Given the description of an element on the screen output the (x, y) to click on. 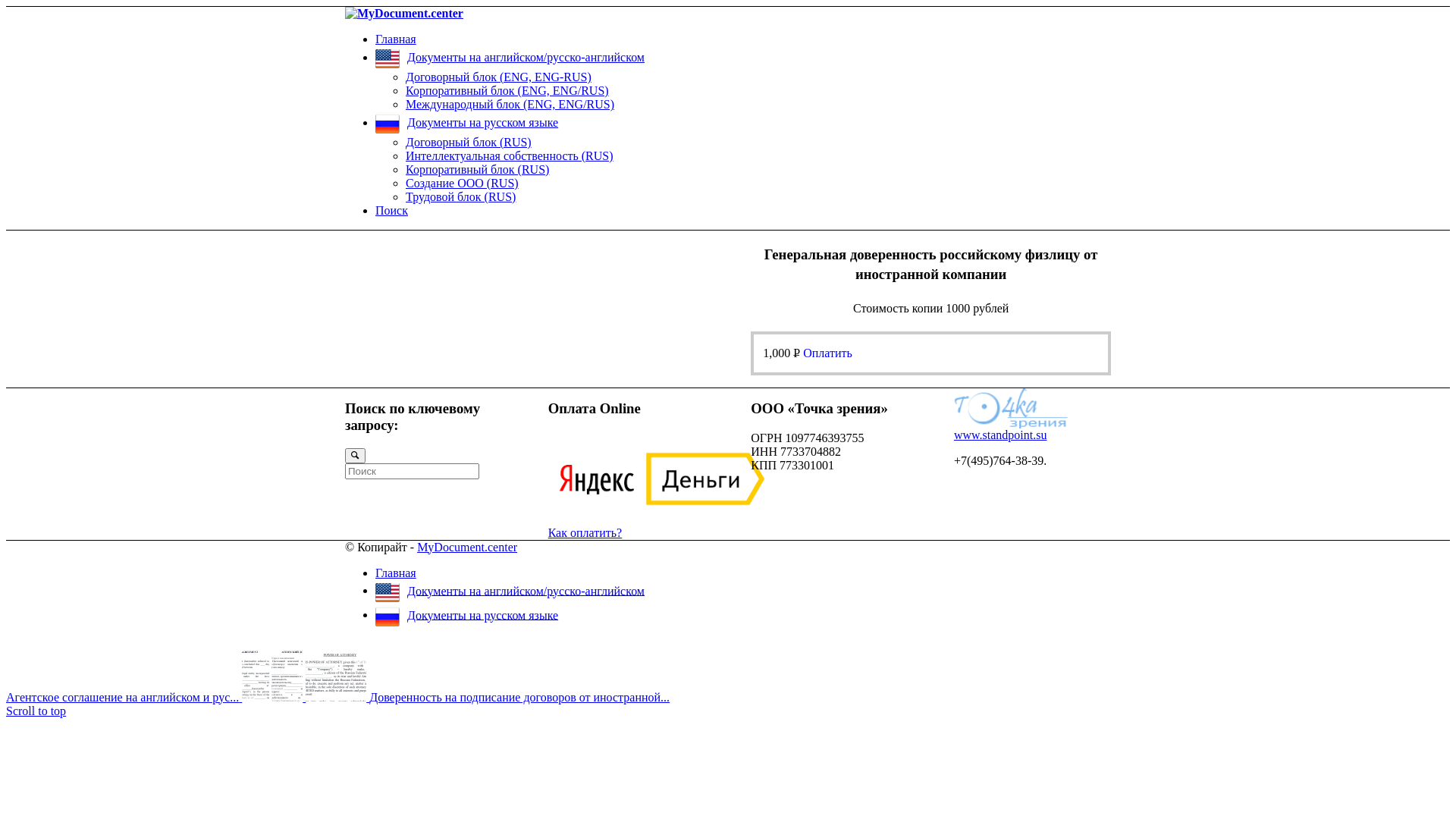
MyDocument.center Element type: text (467, 546)
Scroll to top Element type: text (35, 710)
www.standpoint.su Element type: text (1000, 434)
